Given the description of an element on the screen output the (x, y) to click on. 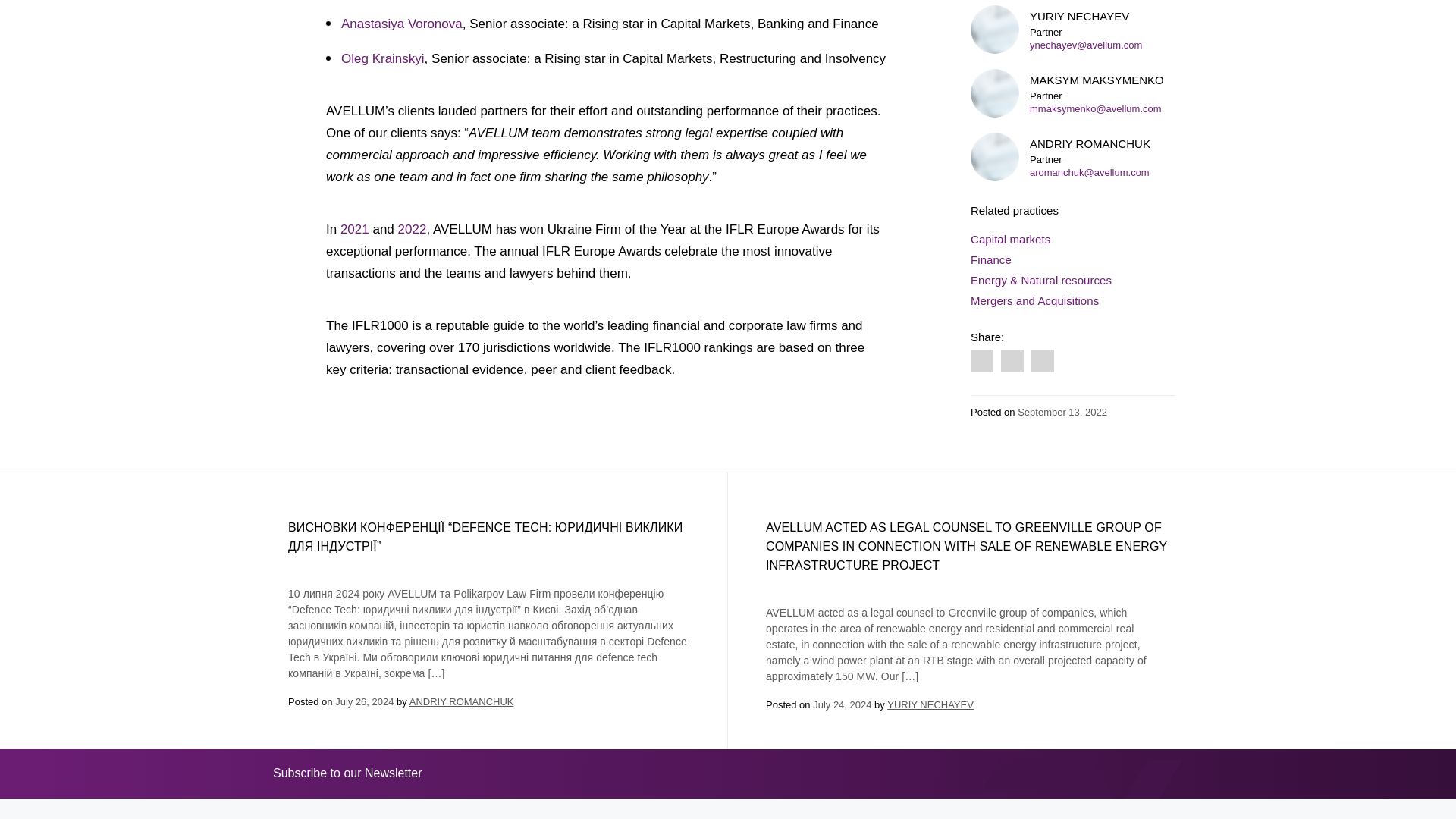
Capital markets (1010, 15)
Anastasiya Voronova (401, 23)
YURIY NECHAYEV (930, 704)
Finance (991, 36)
Oleg Krainskyi (382, 58)
Share on Facebook (981, 137)
2022 (411, 228)
ANDRIY ROMANCHUK (461, 701)
Mergers and Acquisitions (1035, 77)
2021  (356, 228)
Share on Linkedin (1012, 137)
